Given the description of an element on the screen output the (x, y) to click on. 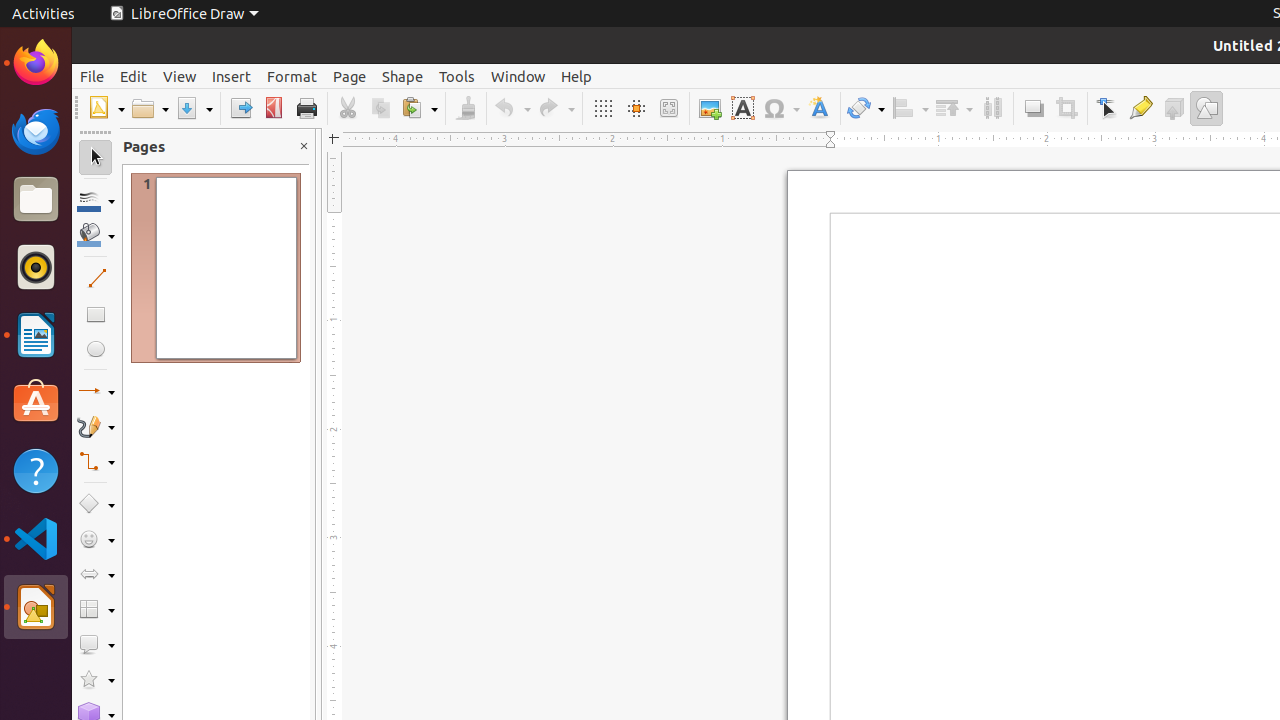
Shape Element type: menu (402, 76)
Insert Element type: menu (231, 76)
Arrow Shapes Element type: push-button (96, 574)
View Element type: menu (179, 76)
Ellipse Element type: push-button (95, 348)
